Given the description of an element on the screen output the (x, y) to click on. 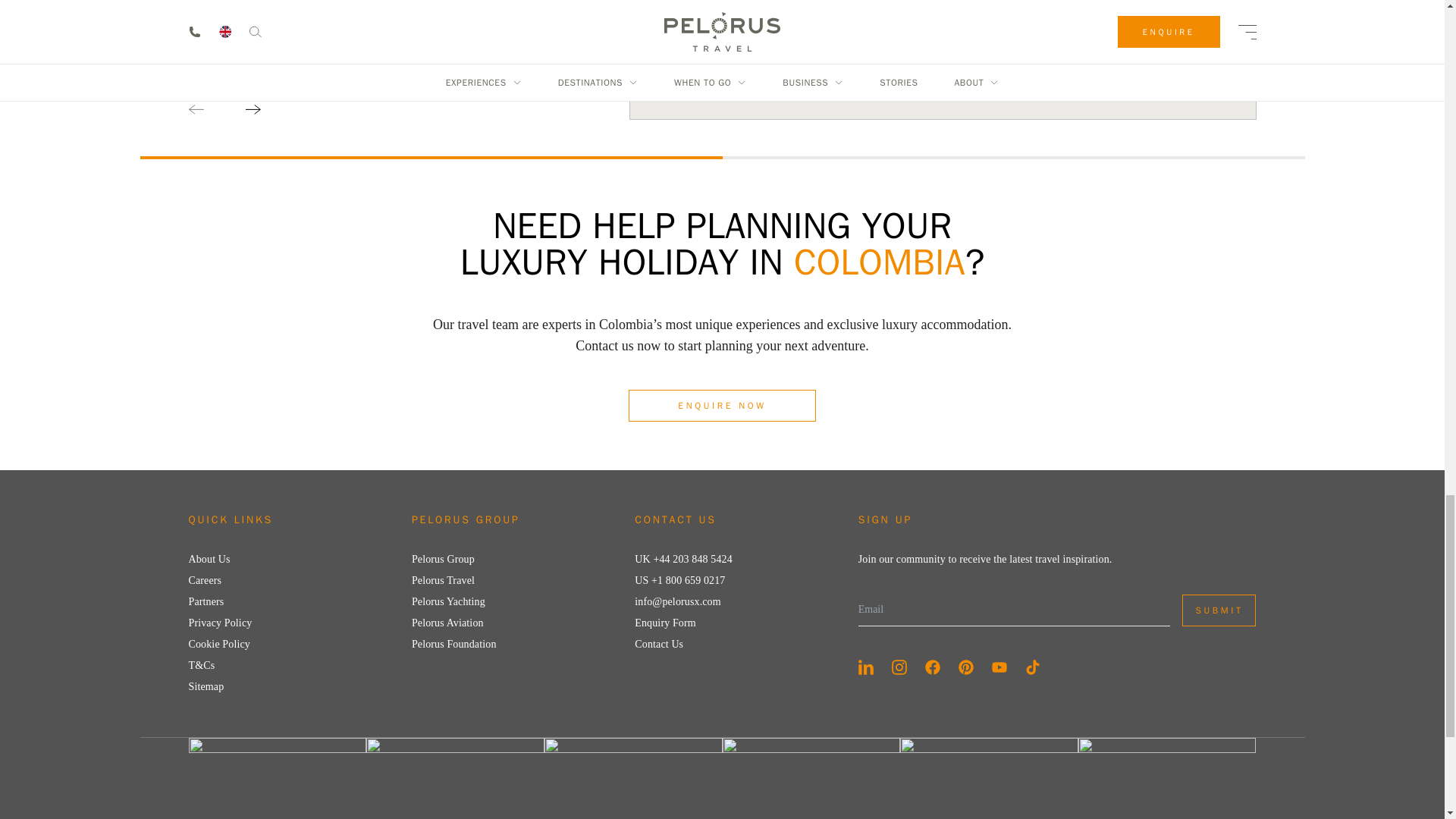
Careers (204, 580)
About Us (208, 559)
ENQUIRE NOW (721, 405)
Partners (205, 601)
Privacy Policy (219, 622)
